Given the description of an element on the screen output the (x, y) to click on. 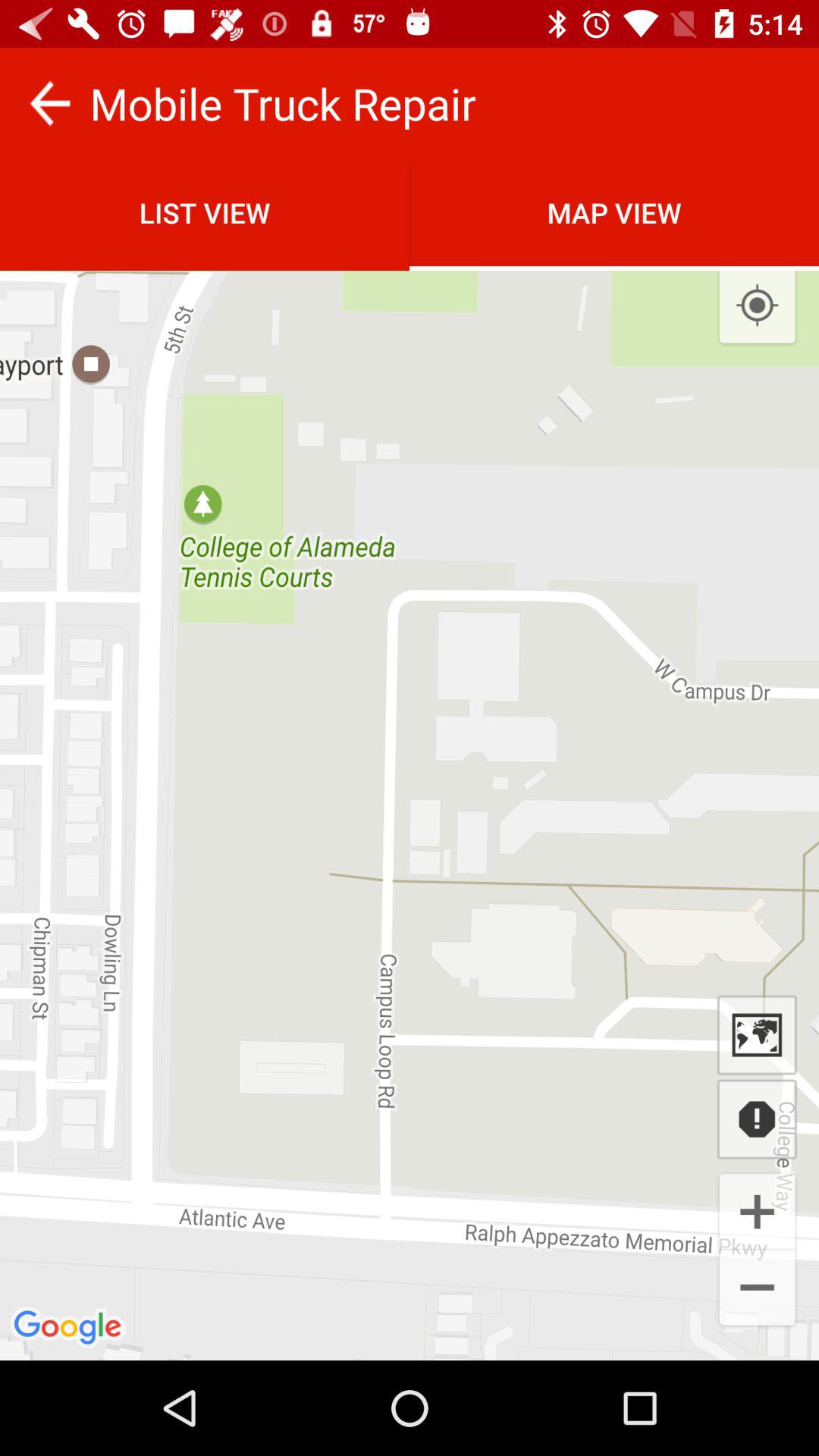
choose list view (204, 212)
